Given the description of an element on the screen output the (x, y) to click on. 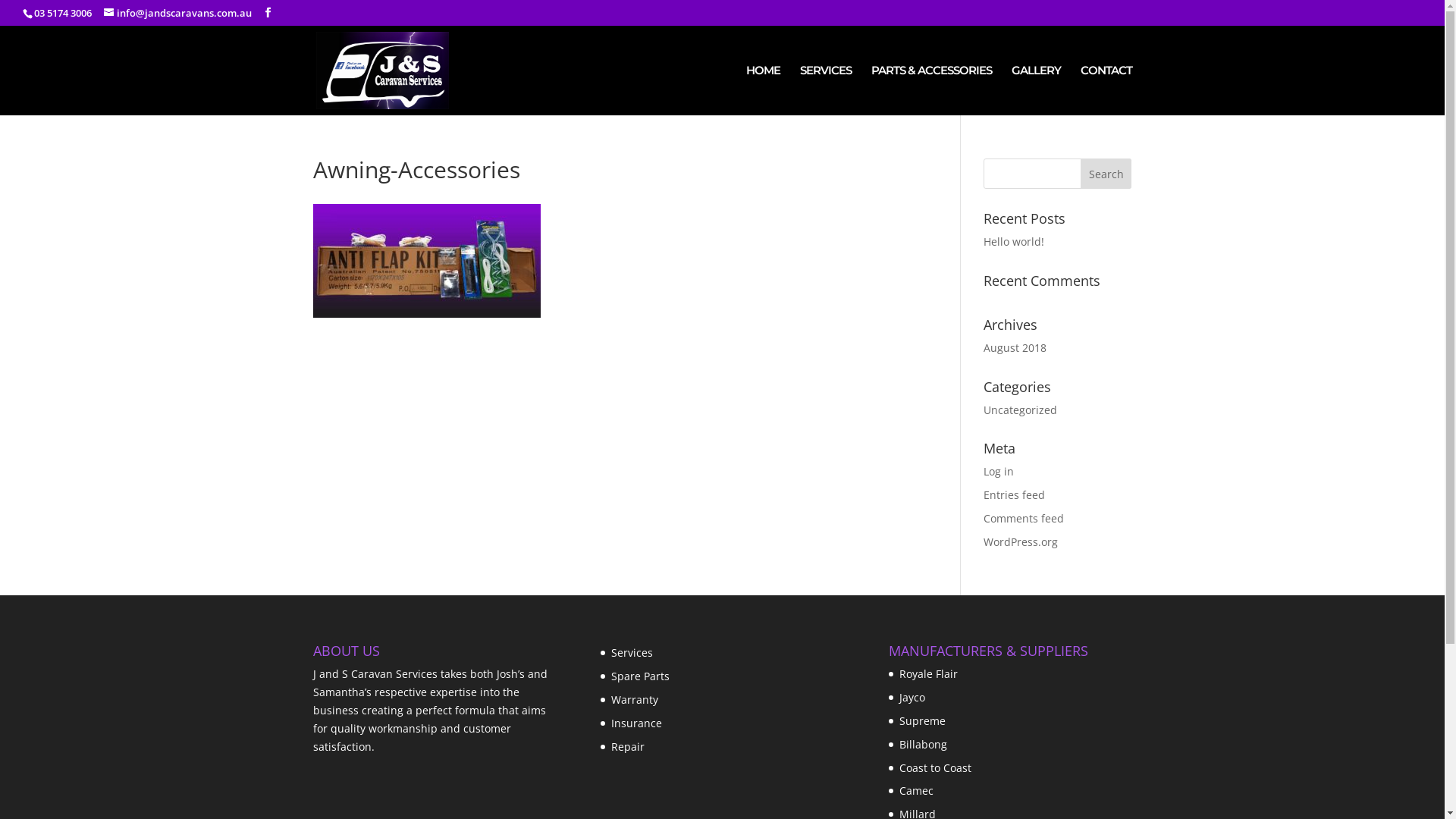
Entries feed Element type: text (1013, 494)
PARTS & ACCESSORIES Element type: text (930, 90)
GALLERY Element type: text (1035, 90)
SERVICES Element type: text (824, 90)
CONTACT Element type: text (1105, 90)
Hello world! Element type: text (1013, 241)
Search Element type: text (1106, 173)
August 2018 Element type: text (1014, 347)
HOME Element type: text (763, 90)
Comments feed Element type: text (1023, 518)
Log in Element type: text (998, 471)
info@jandscaravans.com.au Element type: text (177, 12)
WordPress.org Element type: text (1020, 541)
Uncategorized Element type: text (1020, 409)
